Given the description of an element on the screen output the (x, y) to click on. 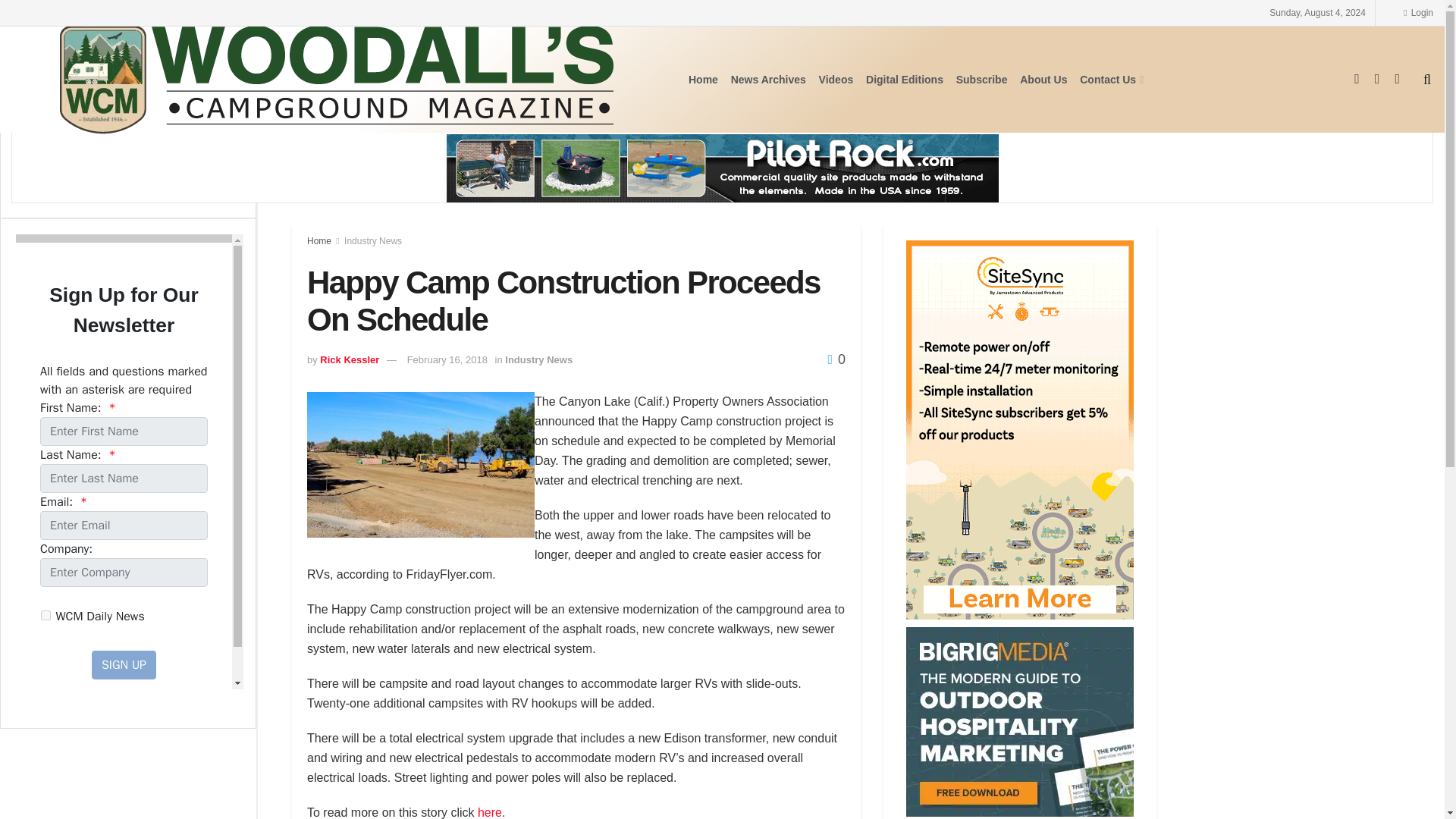
Login (1417, 12)
Digital Editions (904, 79)
Videos (835, 79)
News Archives (768, 79)
About Us (1043, 79)
Contact Us (1110, 79)
Subscribe (981, 79)
